Given the description of an element on the screen output the (x, y) to click on. 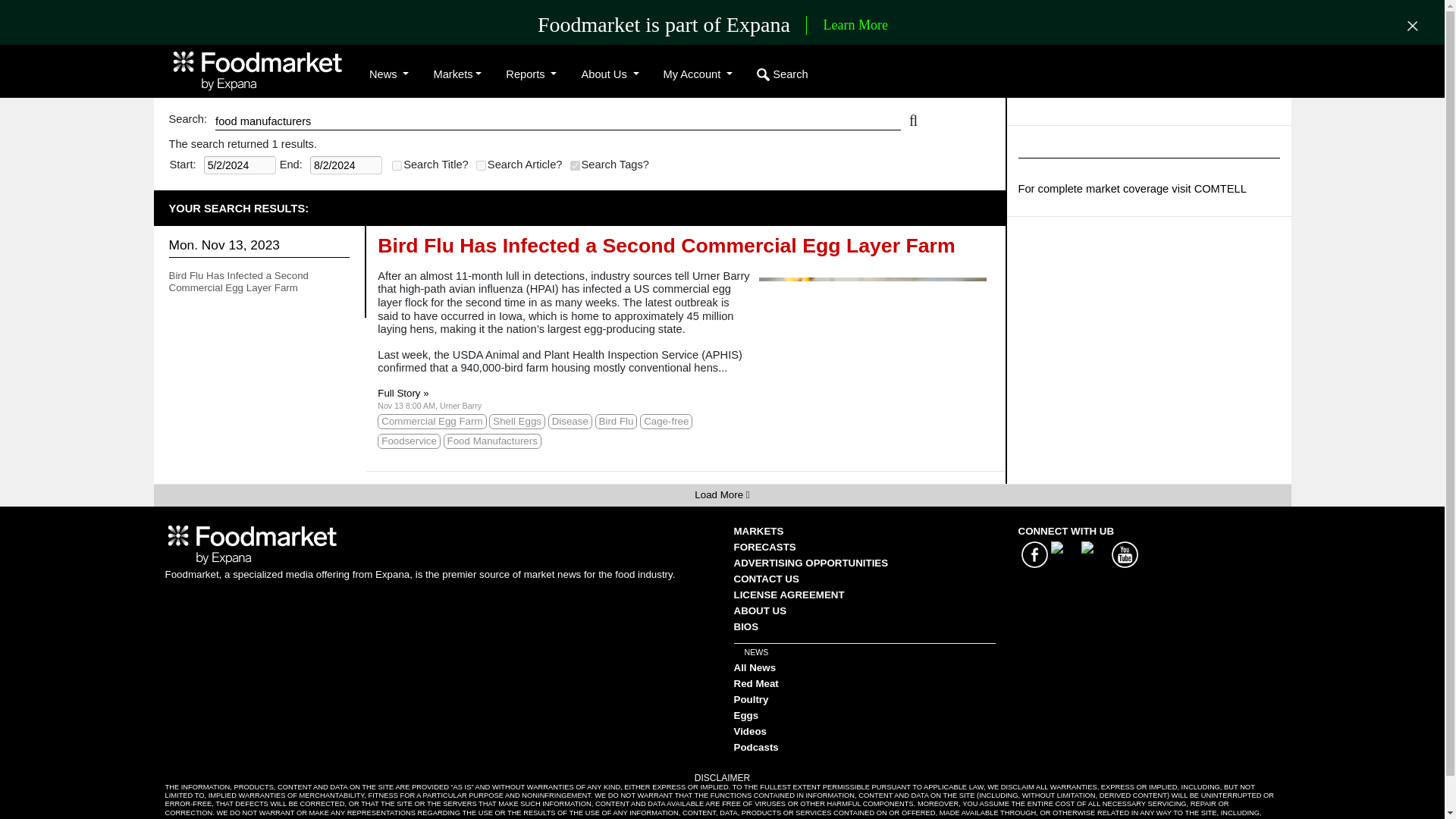
Markets (456, 74)
Bird Flu Has Infected a Second Commercial Egg Layer Farm (237, 281)
on (574, 165)
Learn More (856, 25)
News (388, 74)
on (481, 165)
on (396, 165)
About Us (609, 74)
Reports (531, 74)
My Account (697, 74)
